Given the description of an element on the screen output the (x, y) to click on. 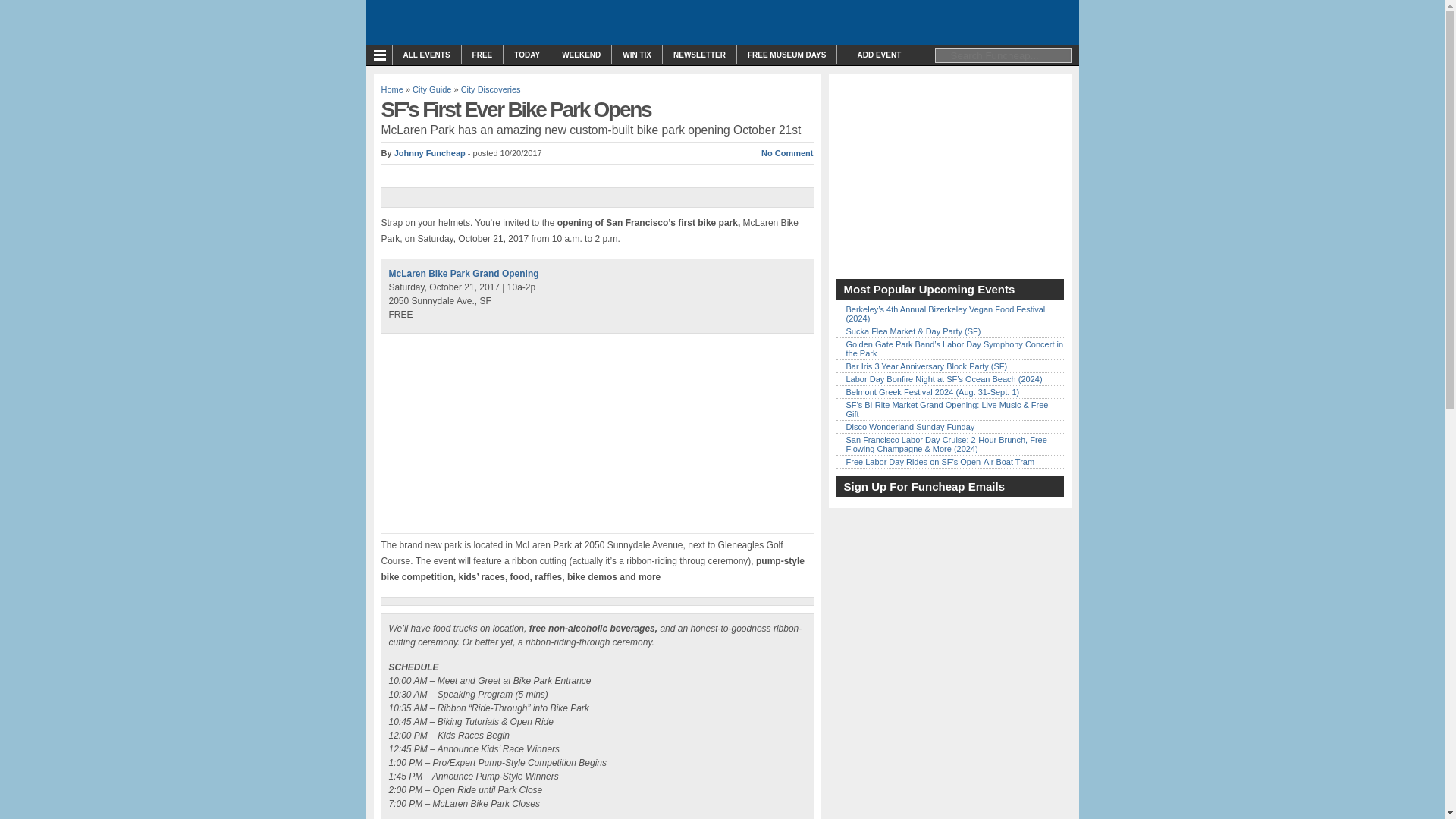
Home (391, 89)
Sub-Menu Toggle (381, 55)
WIN TIX (636, 54)
Posts by Johnny Funcheap (429, 153)
Disco Wonderland Sunday Funday (910, 426)
FREE MUSEUM DAYS (786, 54)
FREE (482, 54)
TODAY (526, 54)
ADD EVENT (874, 54)
NEWSLETTER (699, 54)
